Given the description of an element on the screen output the (x, y) to click on. 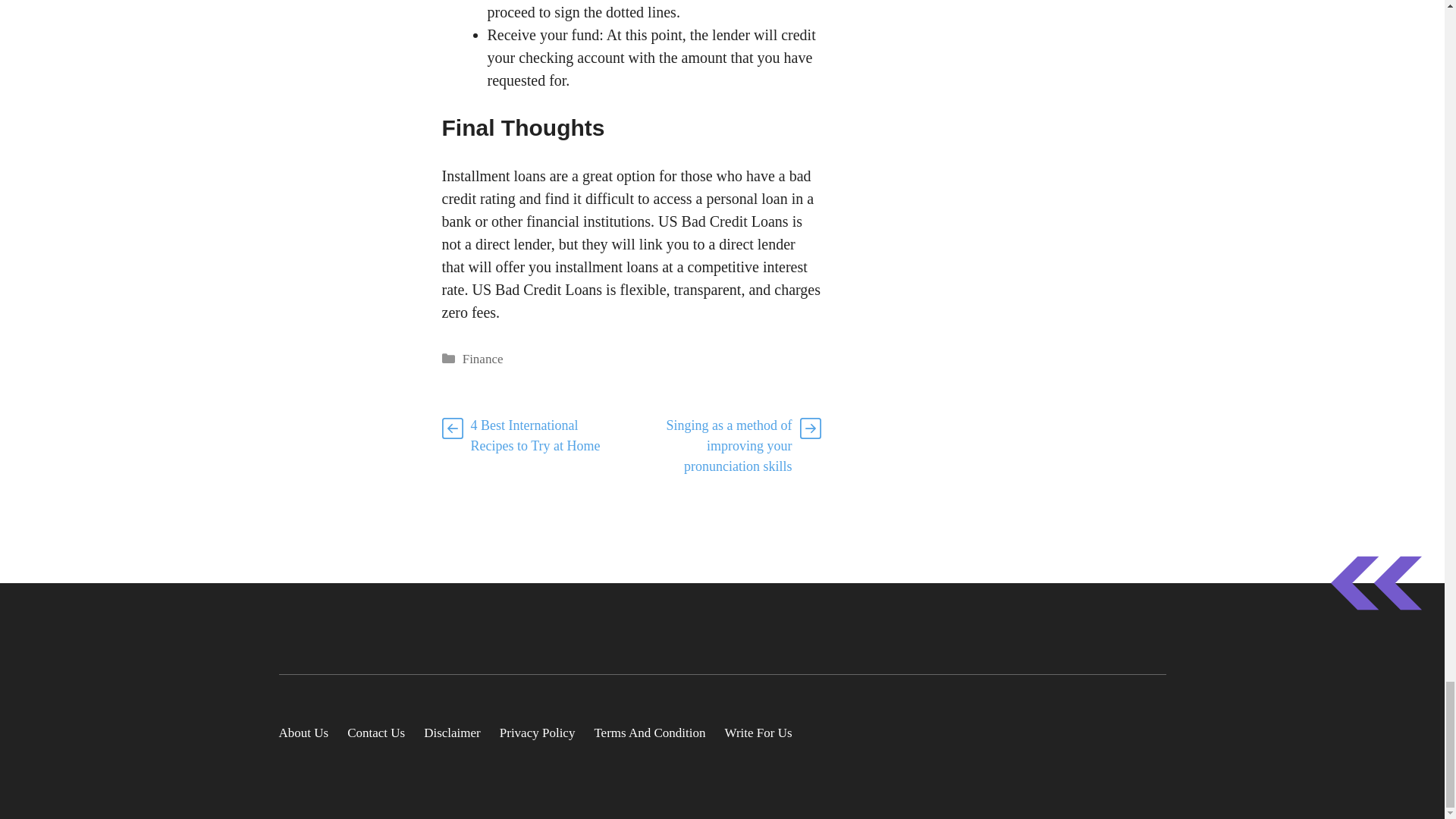
4 Best International Recipes to Try at Home (534, 435)
Finance (483, 359)
Singing as a method of improving your pronunciation skills (729, 445)
